Given the description of an element on the screen output the (x, y) to click on. 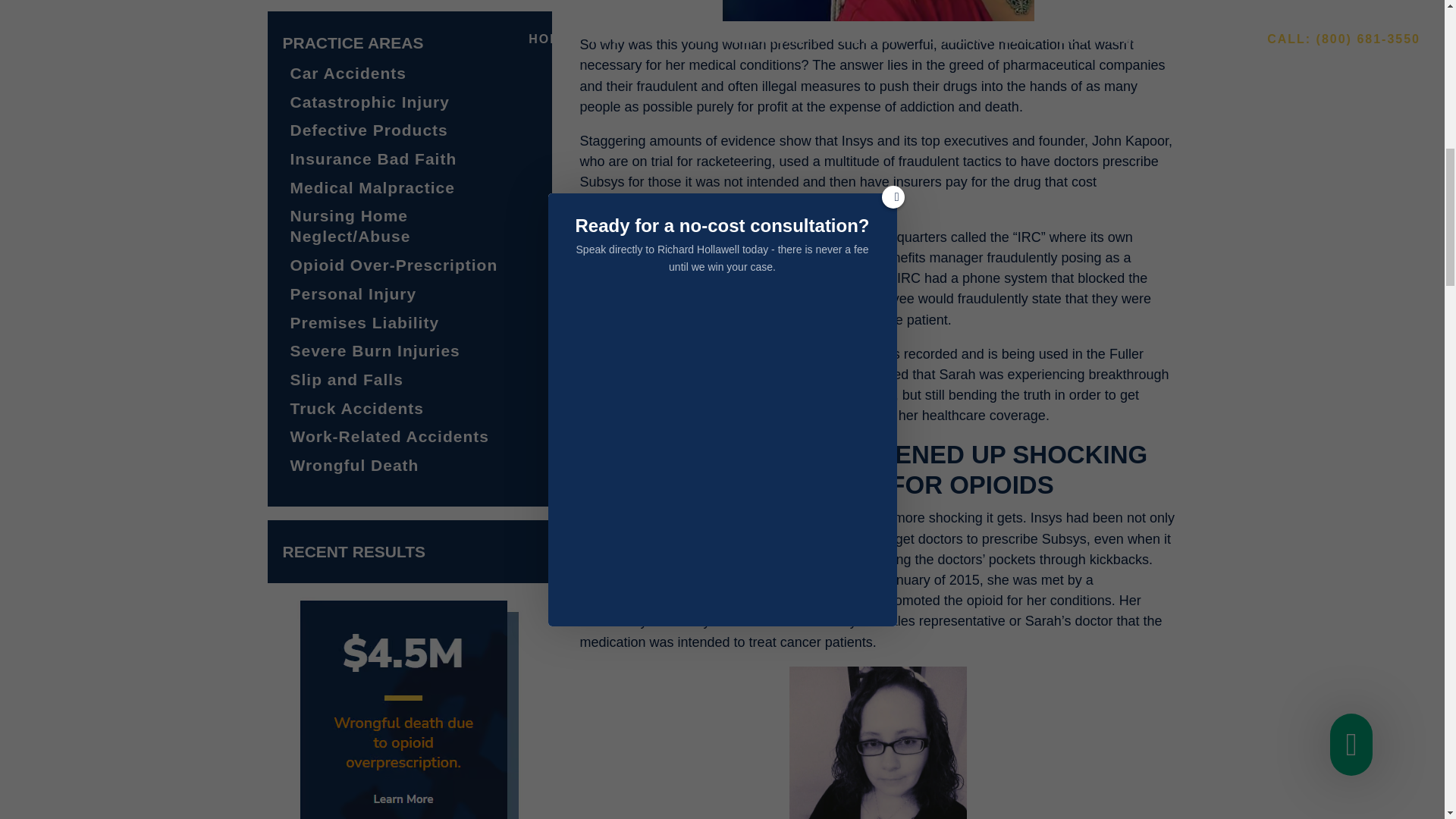
wrong-ful-death (409, 708)
